Given the description of an element on the screen output the (x, y) to click on. 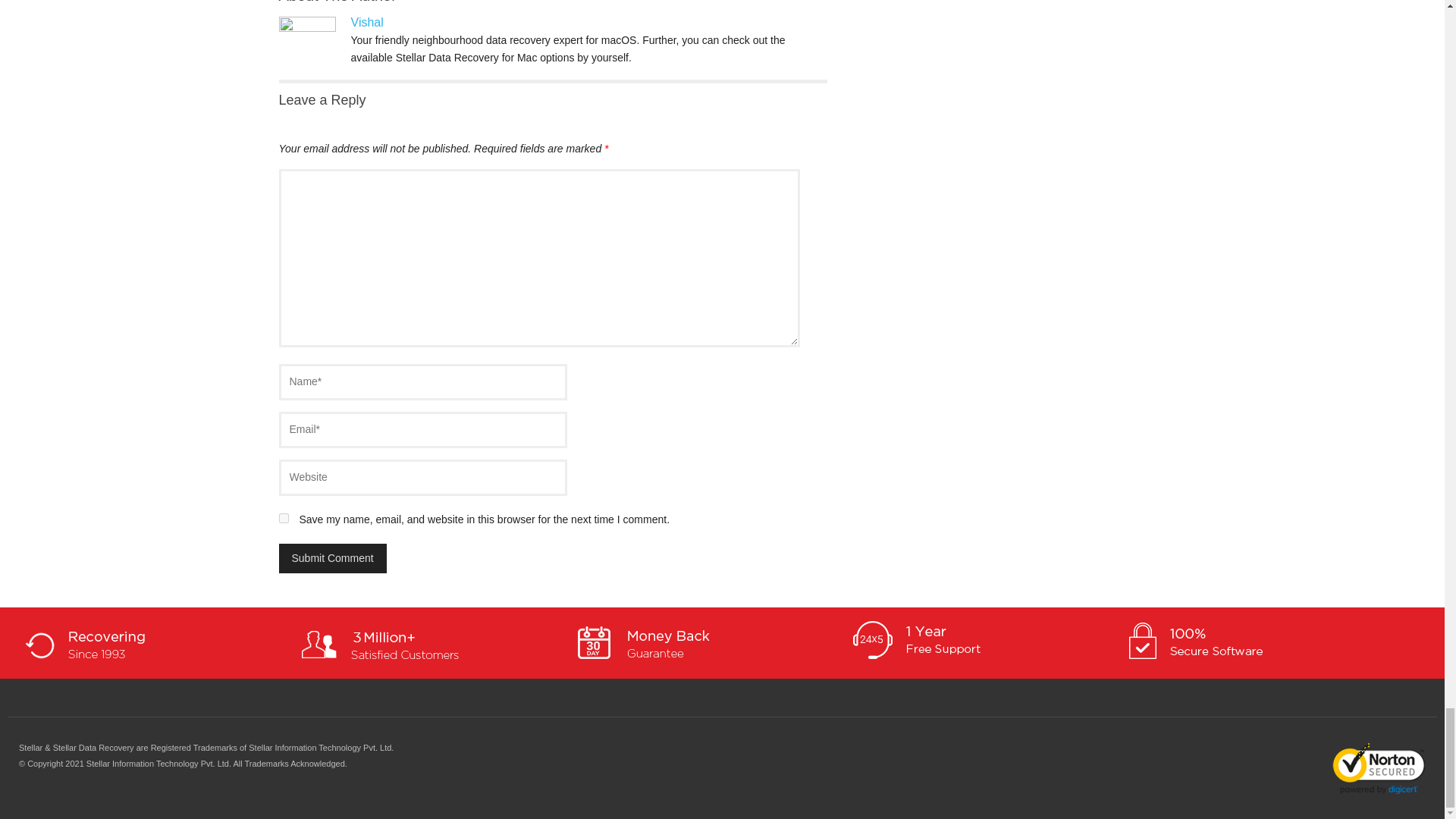
Submit Comment (333, 558)
Vishal (366, 21)
Submit Comment (333, 558)
yes (283, 518)
